Given the description of an element on the screen output the (x, y) to click on. 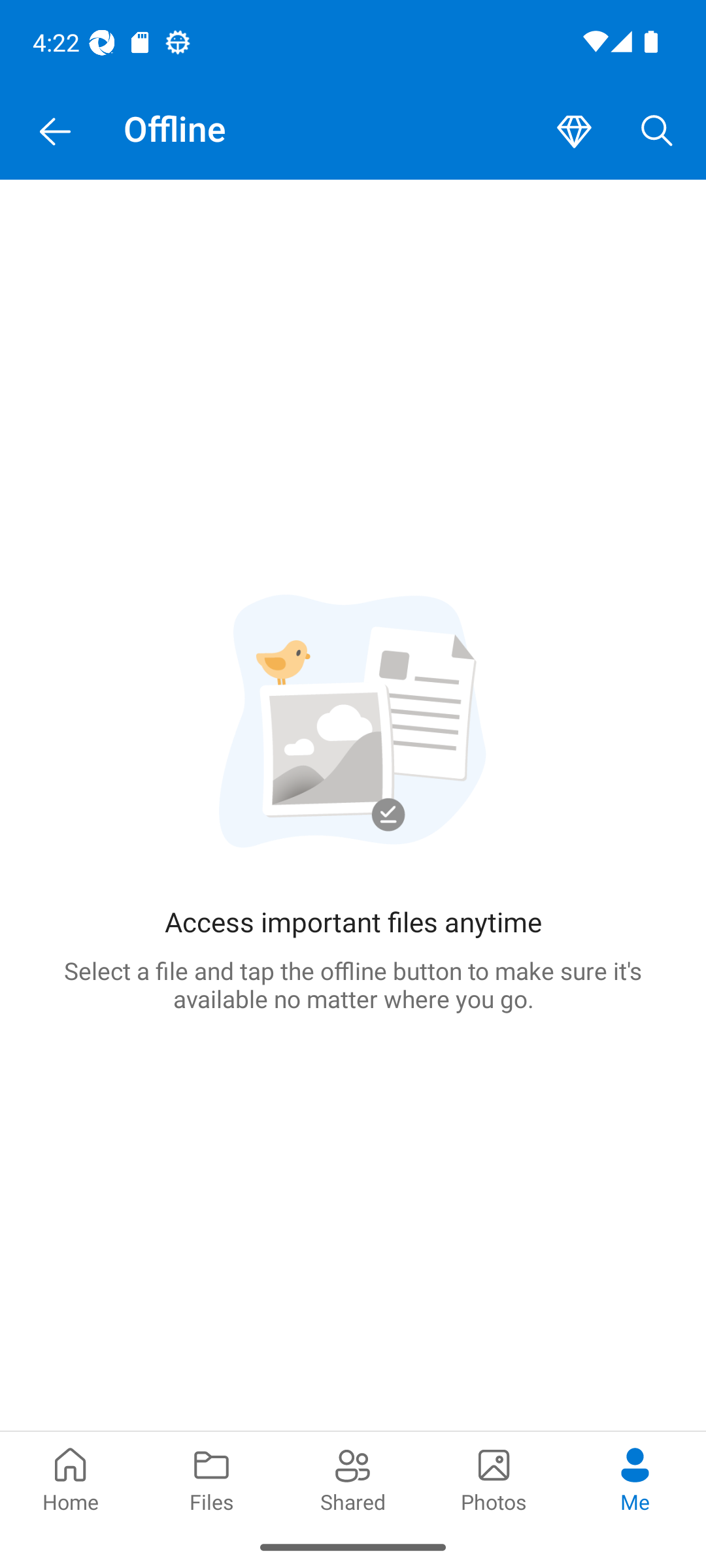
Navigate Up (55, 131)
Premium button (574, 131)
Search button (656, 131)
Home pivot Home (70, 1478)
Files pivot Files (211, 1478)
Shared pivot Shared (352, 1478)
Photos pivot Photos (493, 1478)
